Given the description of an element on the screen output the (x, y) to click on. 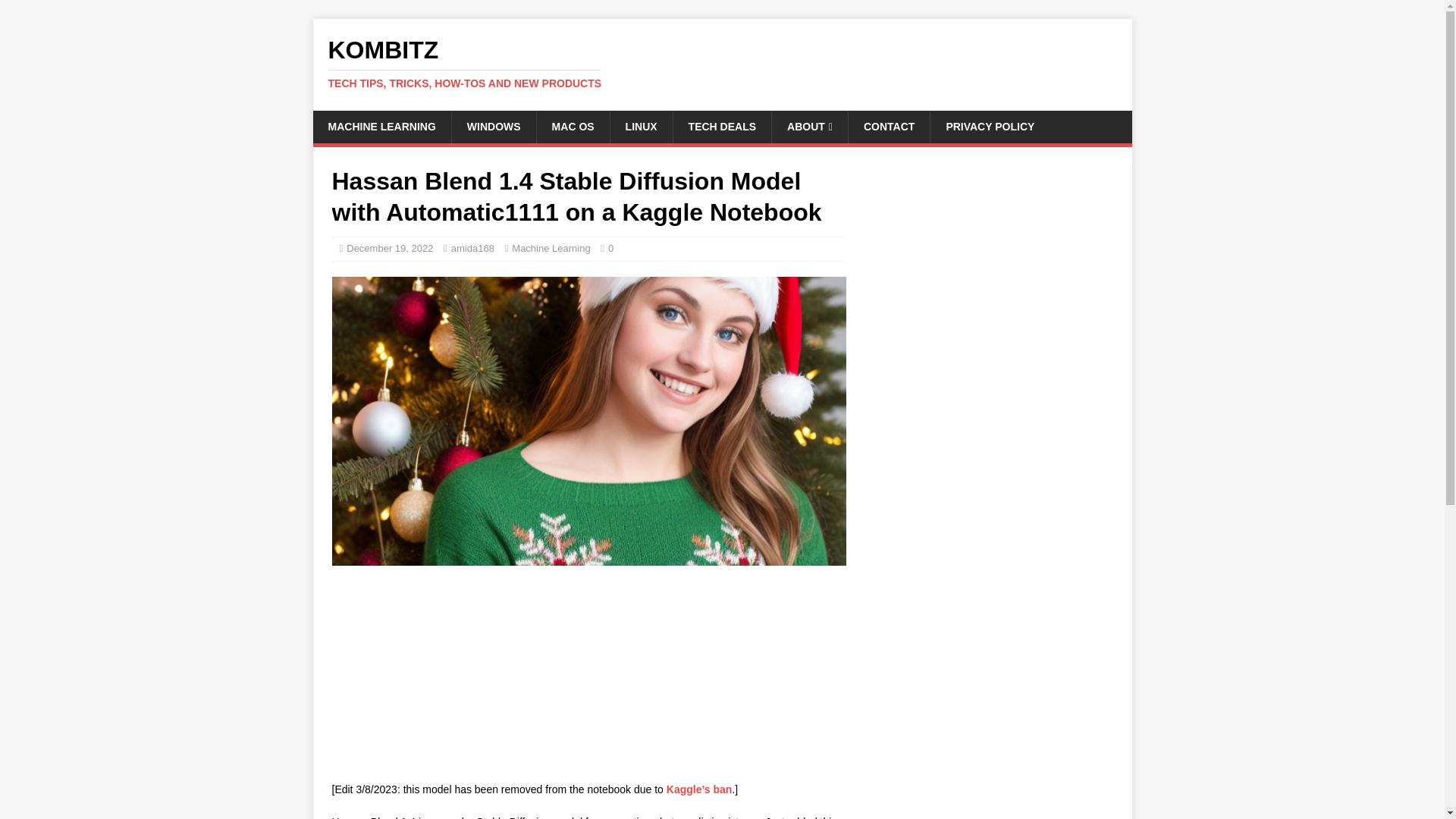
Advertisement (721, 63)
WINDOWS (445, 675)
MAC OS (493, 126)
hassan blend (572, 126)
CONTACT (721, 126)
December 19, 2022 (888, 126)
LINUX (389, 247)
Machine Learning (641, 126)
ABOUT (550, 247)
MACHINE LEARNING (809, 126)
PRIVACY POLICY (381, 126)
amida168 (989, 126)
kombitz (473, 247)
